Given the description of an element on the screen output the (x, y) to click on. 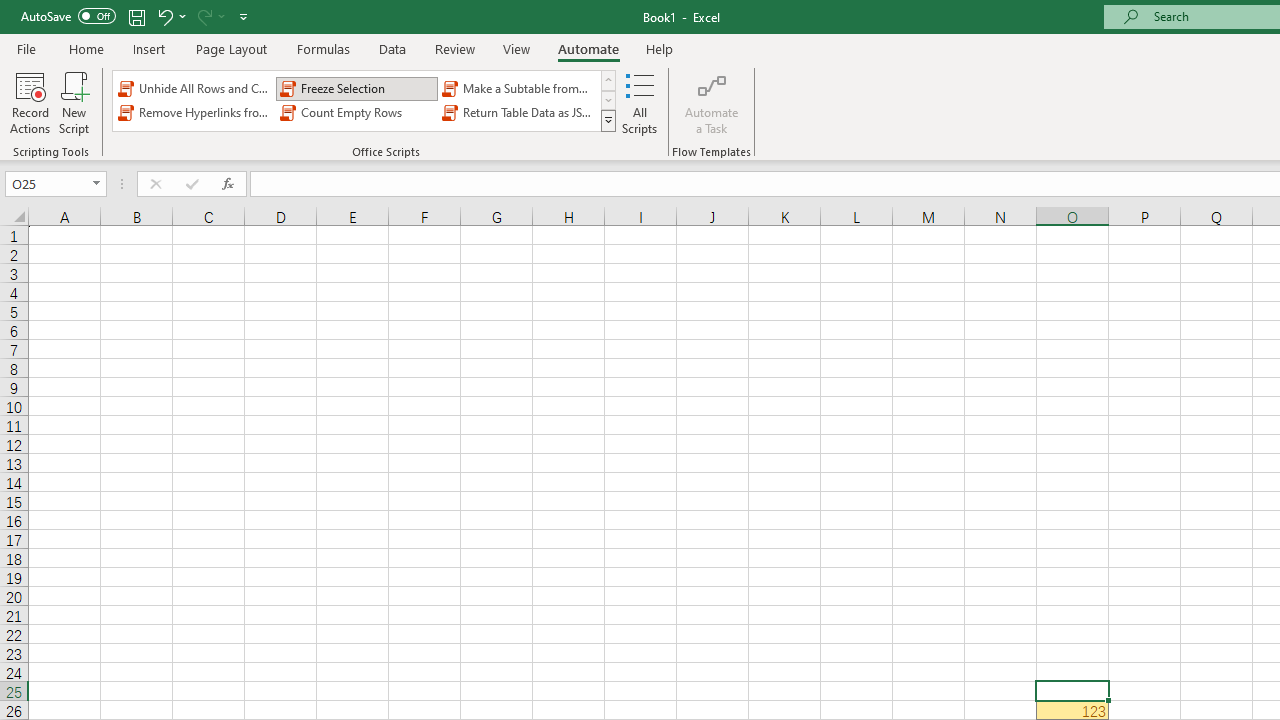
All Scripts (639, 102)
Formulas (323, 48)
Automate (588, 48)
Return Table Data as JSON (518, 112)
Unhide All Rows and Columns (194, 88)
View (517, 48)
Name Box (56, 183)
More Options (222, 15)
Redo (203, 15)
Redo (209, 15)
Class: NetUIImage (609, 120)
Name Box (46, 183)
Data (392, 48)
AutomationID: OfficeScriptsGallery (365, 100)
Insert (149, 48)
